Given the description of an element on the screen output the (x, y) to click on. 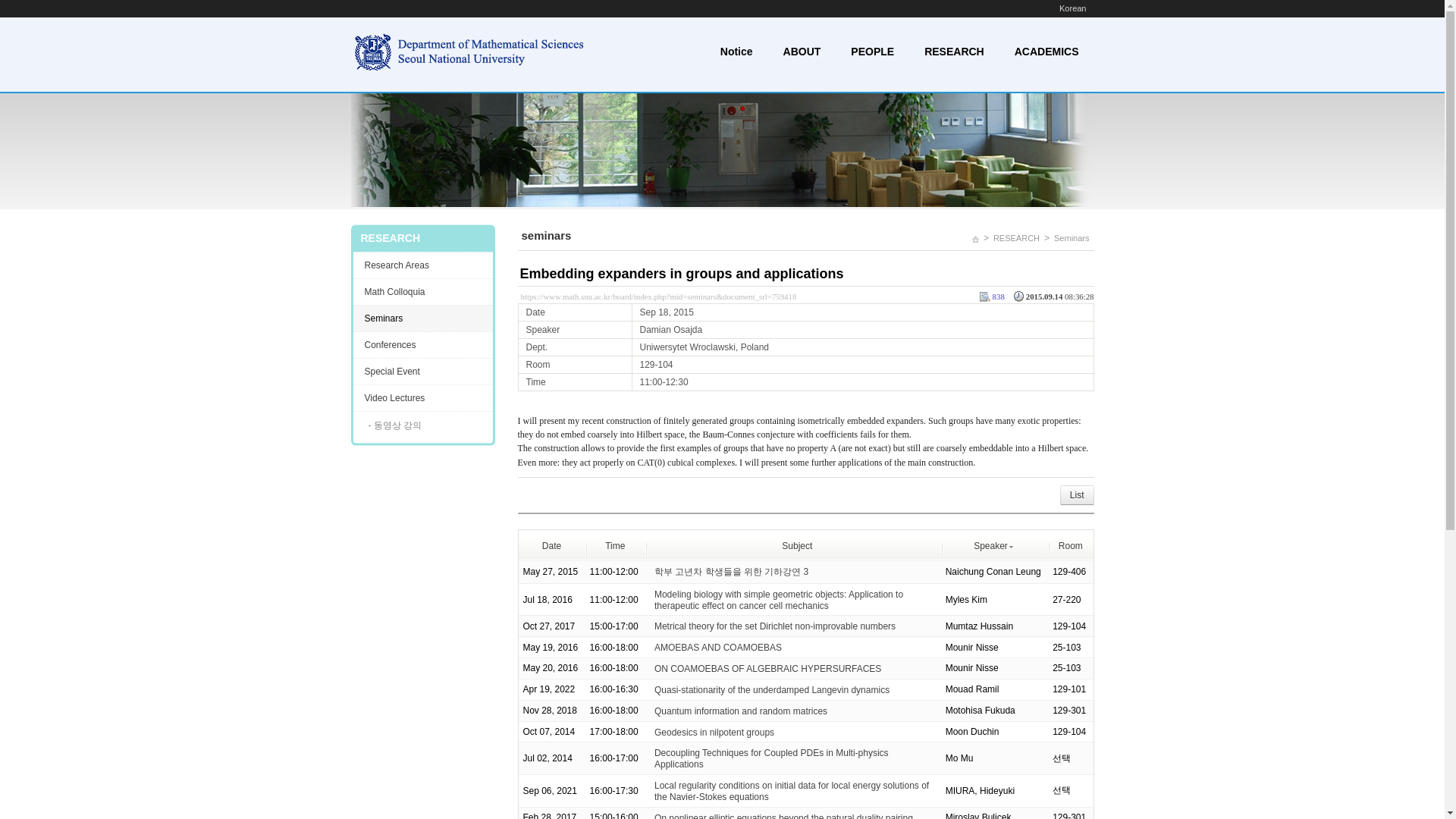
Metrical theory for the set Dirichlet non-improvable numbers (774, 625)
AMOEBAS AND COAMOEBAS (717, 647)
Views (991, 296)
Room (1070, 545)
RESEARCH (954, 53)
RESEARCH (1015, 238)
ACADEMICS (1046, 53)
Registered Date (1052, 296)
Speaker (994, 545)
Embedding expanders in groups and applications (681, 273)
Time (614, 545)
PEOPLE (872, 53)
ABOUT (801, 53)
Seminars (1071, 238)
